Given the description of an element on the screen output the (x, y) to click on. 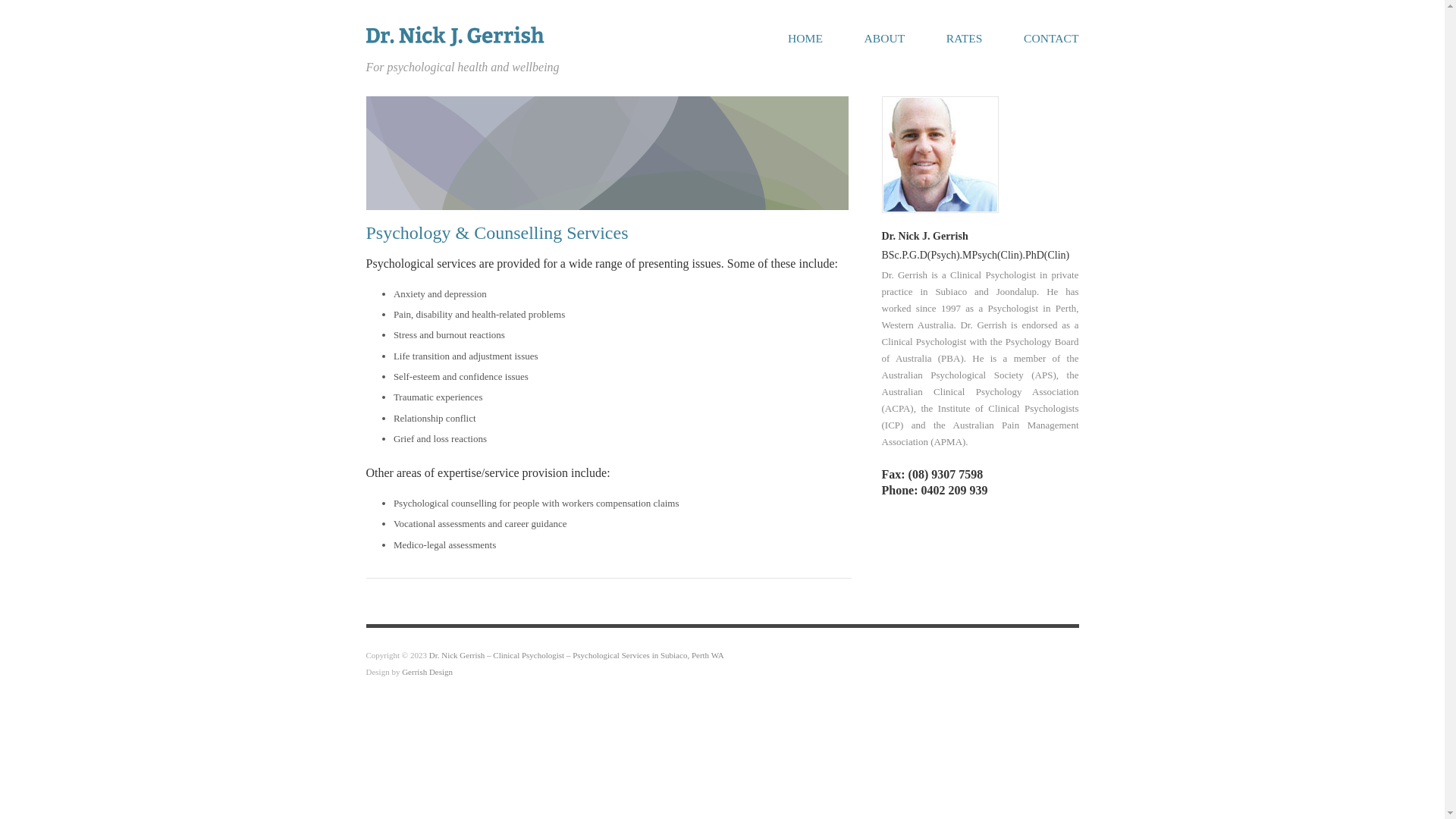
RATES Element type: text (964, 38)
CONTACT Element type: text (1050, 38)
HOME Element type: text (804, 38)
Gerrish Design Element type: text (426, 671)
ABOUT Element type: text (884, 38)
